Given the description of an element on the screen output the (x, y) to click on. 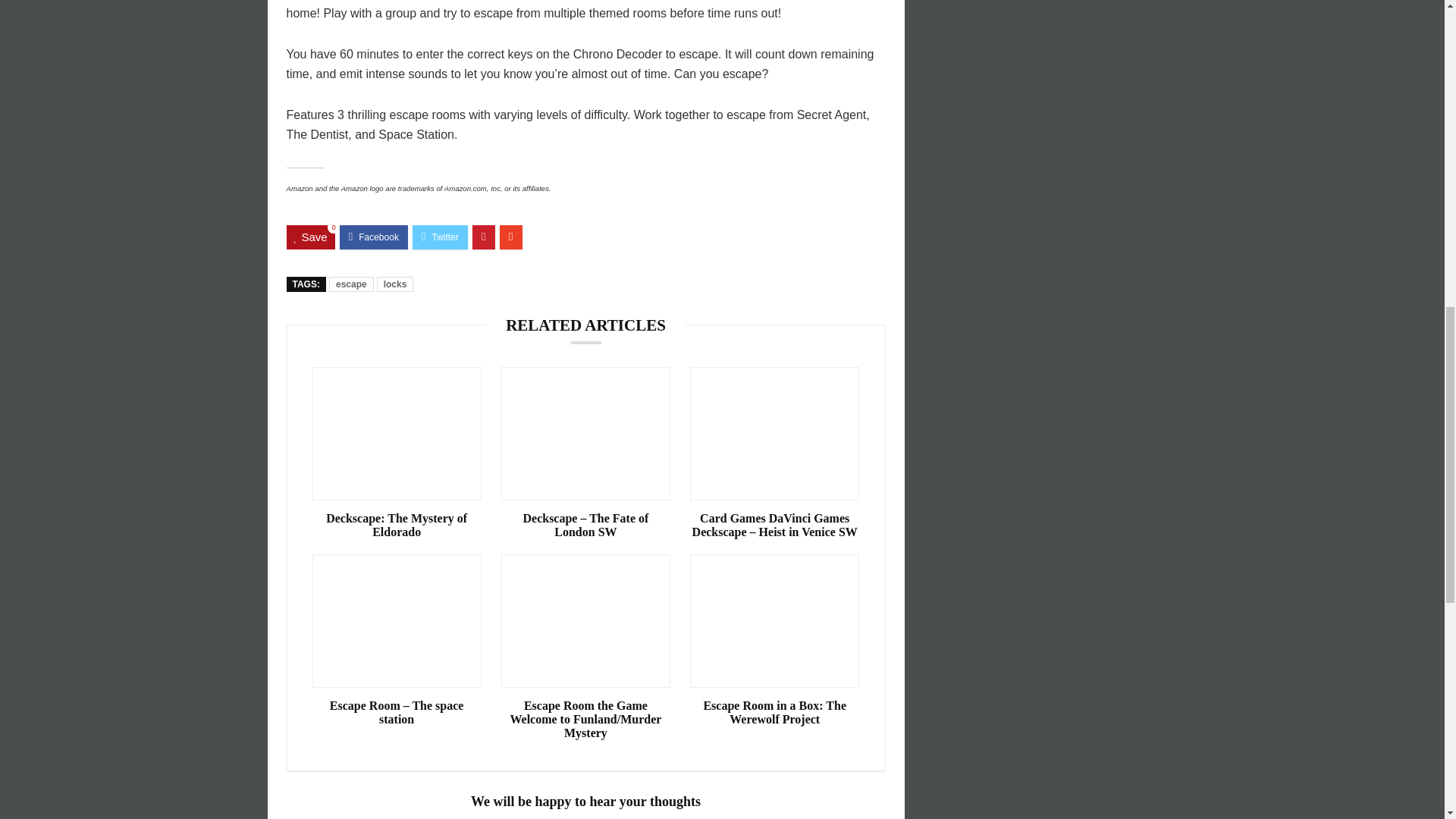
locks (395, 283)
Escape Room in a Box: The Werewolf Project (774, 712)
Escape Room in a Box: The Werewolf Project (774, 712)
escape (351, 283)
Deckscape: The Mystery of Eldorado (397, 524)
Deckscape: The Mystery of Eldorado (397, 524)
